Given the description of an element on the screen output the (x, y) to click on. 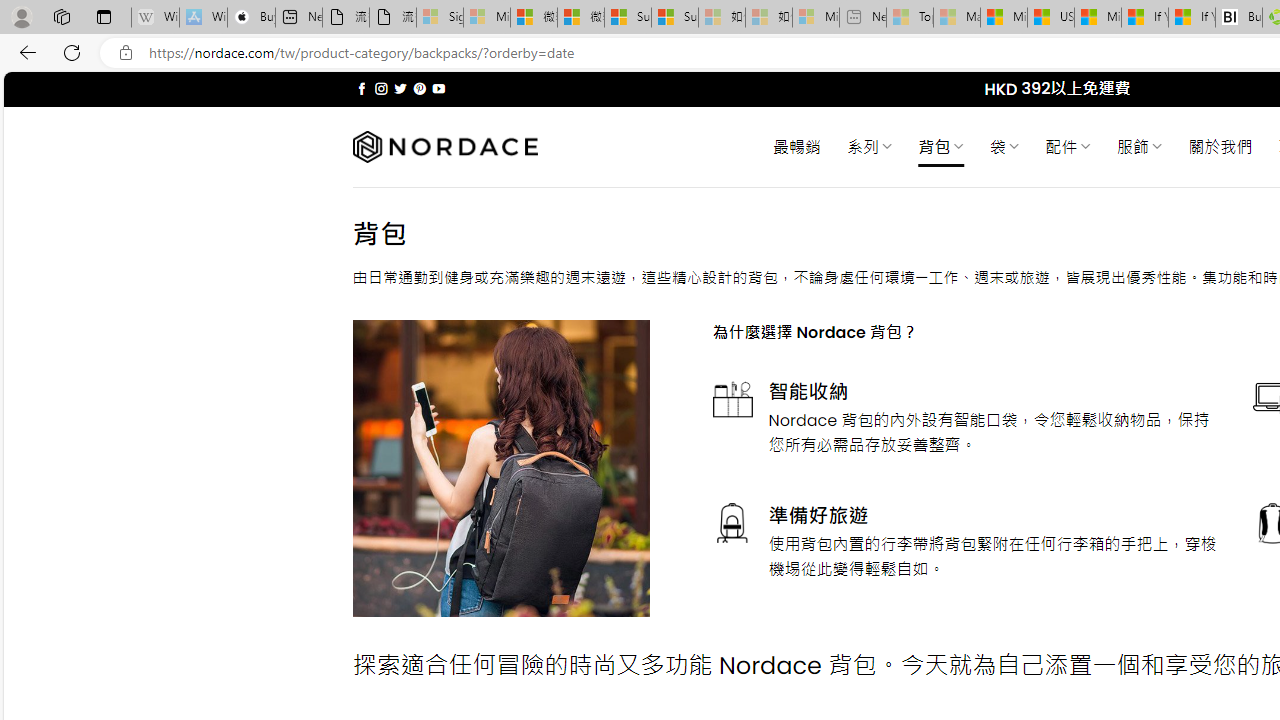
Top Stories - MSN - Sleeping (910, 17)
Follow on Twitter (400, 88)
Marine life - MSN - Sleeping (957, 17)
